Given the description of an element on the screen output the (x, y) to click on. 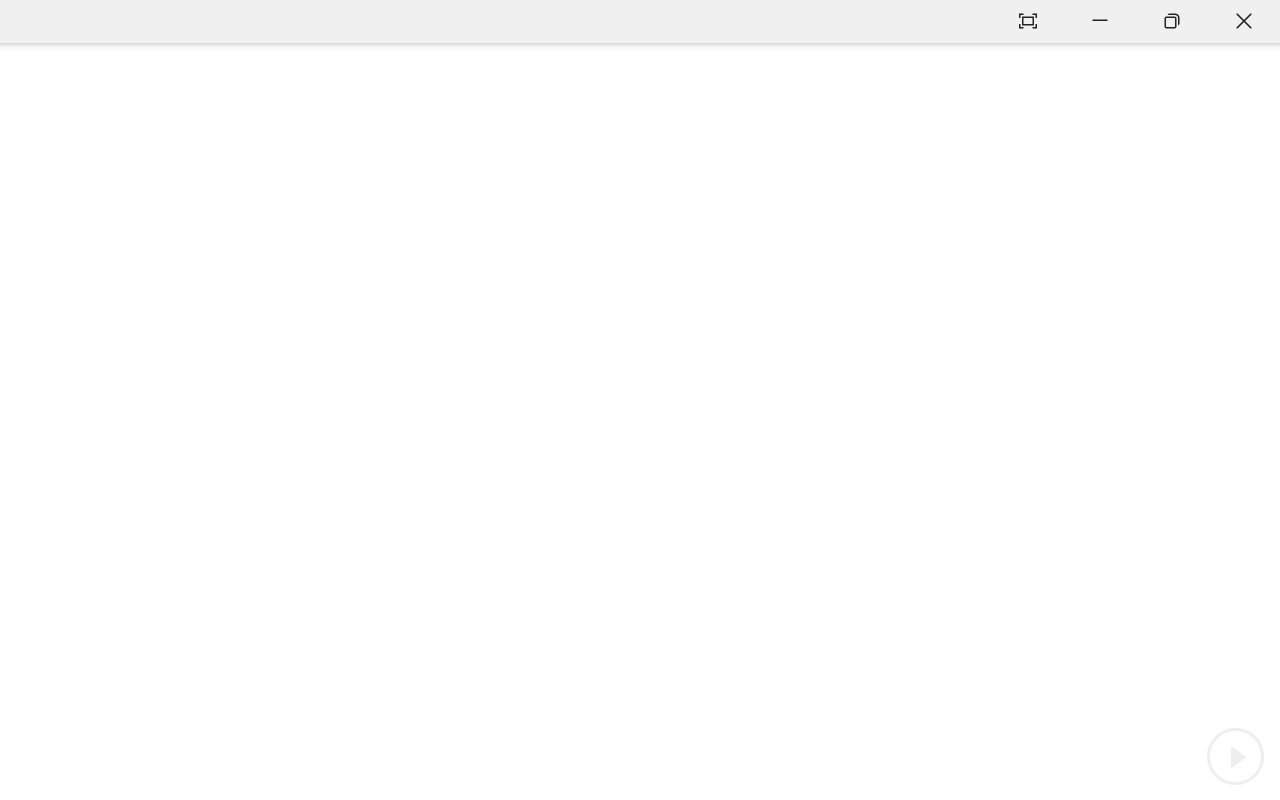
Close (1244, 21)
Minimize (1099, 21)
Restore Down (1172, 21)
Auto-hide Reading Toolbar (1027, 21)
